Given the description of an element on the screen output the (x, y) to click on. 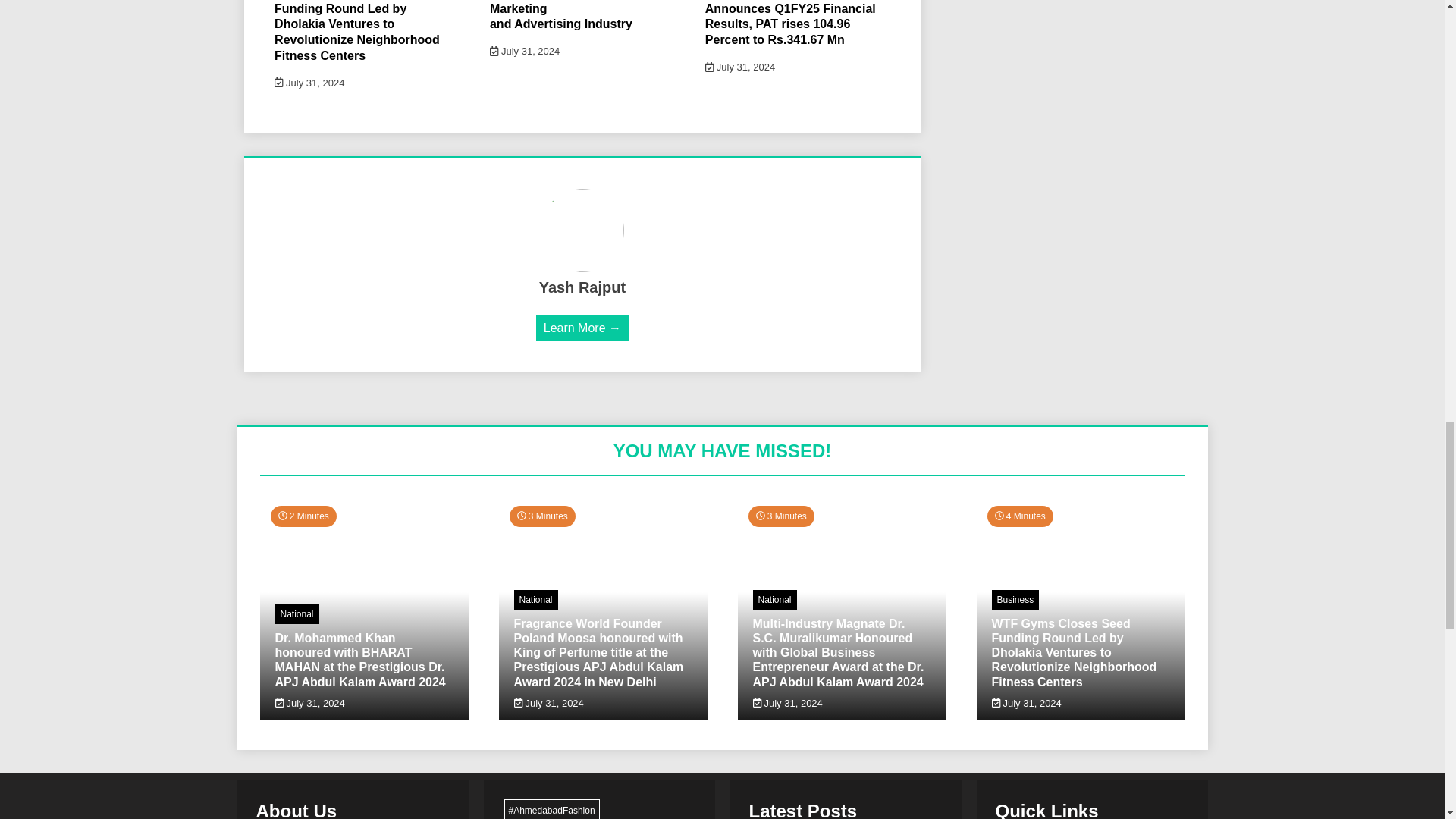
Estimated Reading Time of Article (780, 516)
Estimated Reading Time of Article (1019, 516)
Estimated Reading Time of Article (302, 516)
July 31, 2024 (524, 50)
Estimated Reading Time of Article (542, 516)
July 31, 2024 (309, 82)
July 31, 2024 (739, 66)
